Given the description of an element on the screen output the (x, y) to click on. 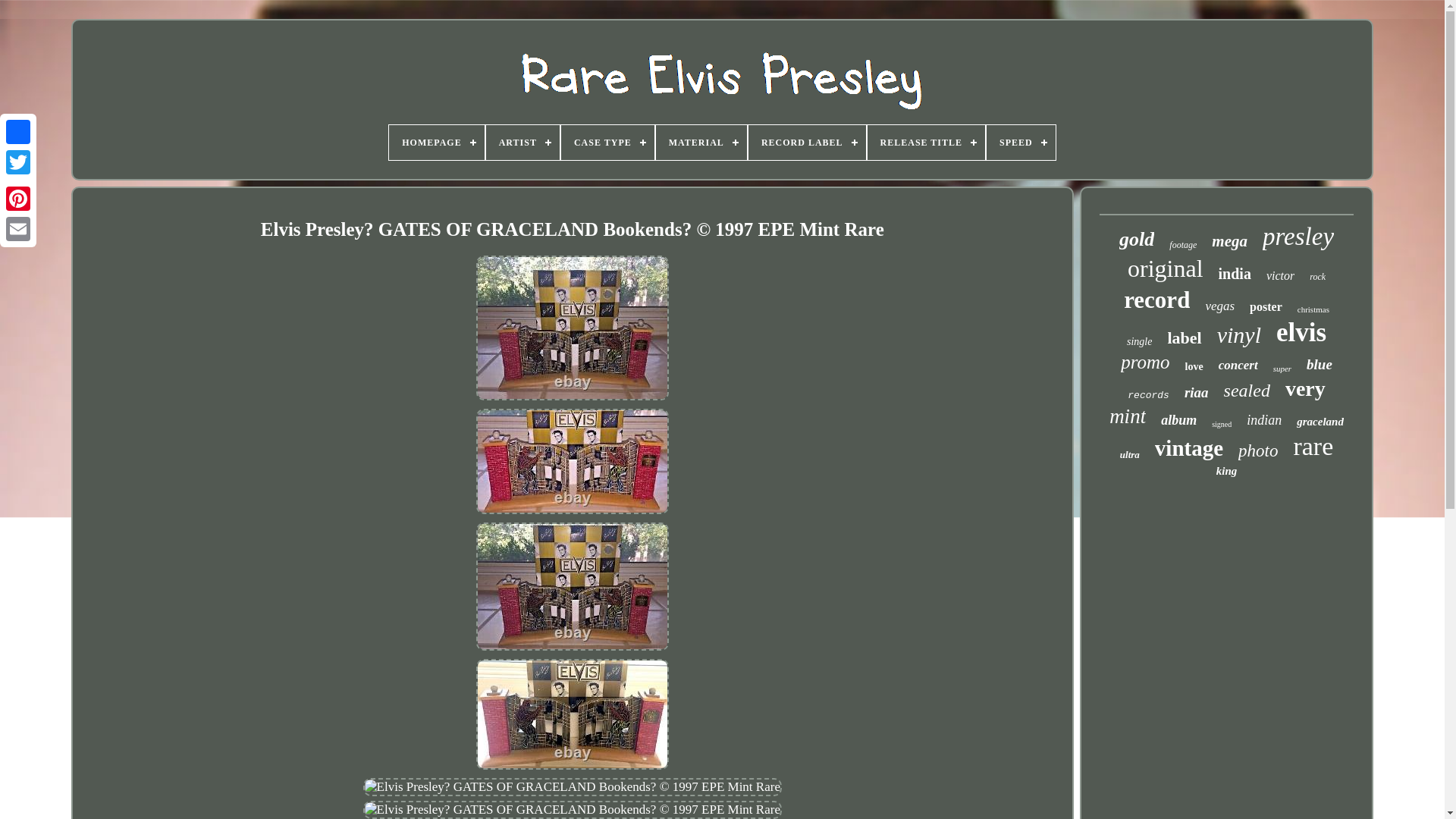
HOMEPAGE (435, 142)
MATERIAL (701, 142)
ARTIST (522, 142)
CASE TYPE (606, 142)
